Given the description of an element on the screen output the (x, y) to click on. 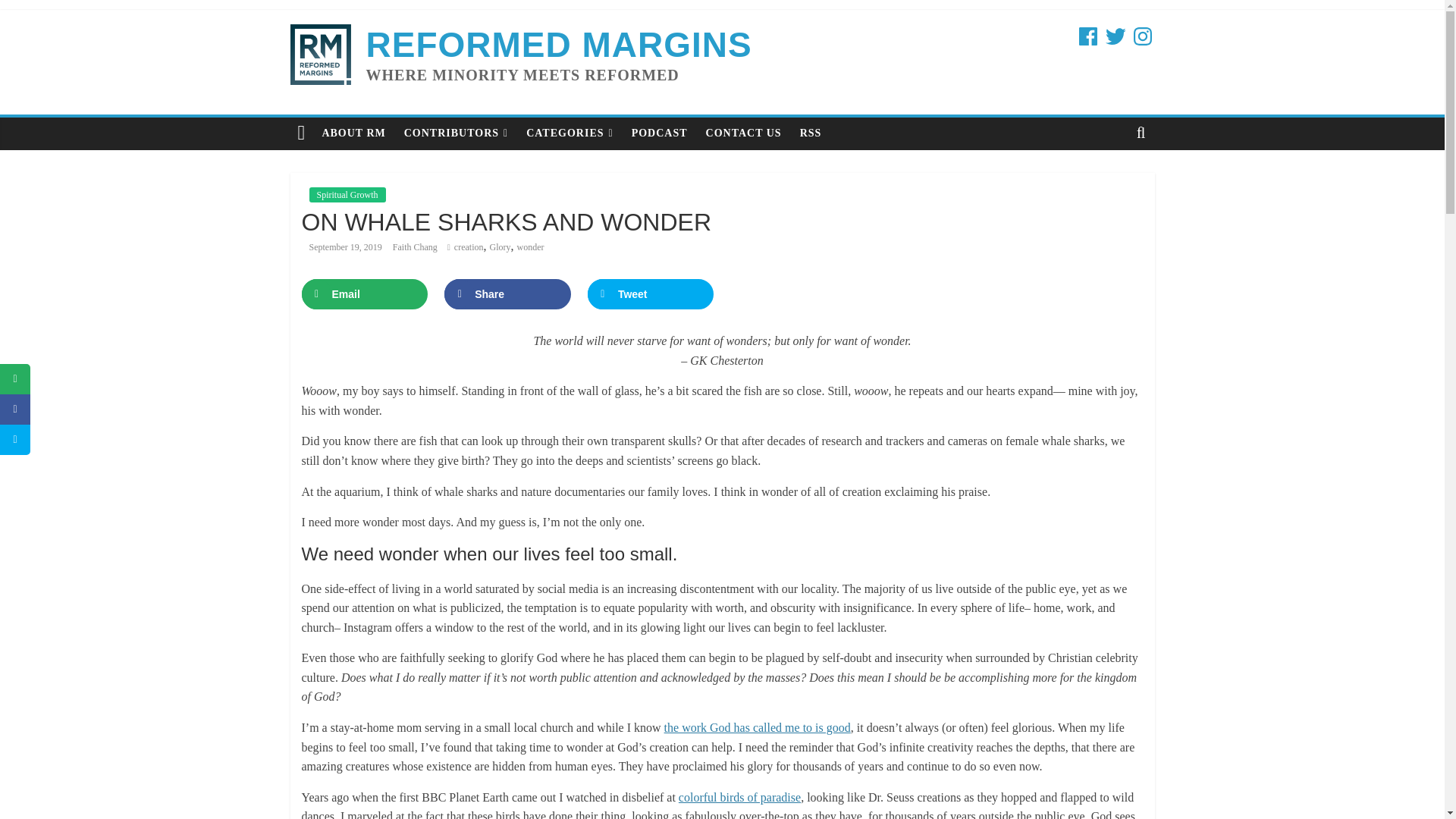
creation (468, 246)
Email (364, 294)
Instagram (1141, 36)
CATEGORIES (568, 133)
REFORMED MARGINS (558, 44)
ABOUT RM (353, 133)
Faith Chang (416, 246)
CONTRIBUTORS (455, 133)
Twitter (1114, 36)
Faith Chang (416, 246)
Glory (500, 246)
Tweet (651, 294)
CONTACT US (743, 133)
Share (507, 294)
REFORMED MARGINS (558, 44)
